Given the description of an element on the screen output the (x, y) to click on. 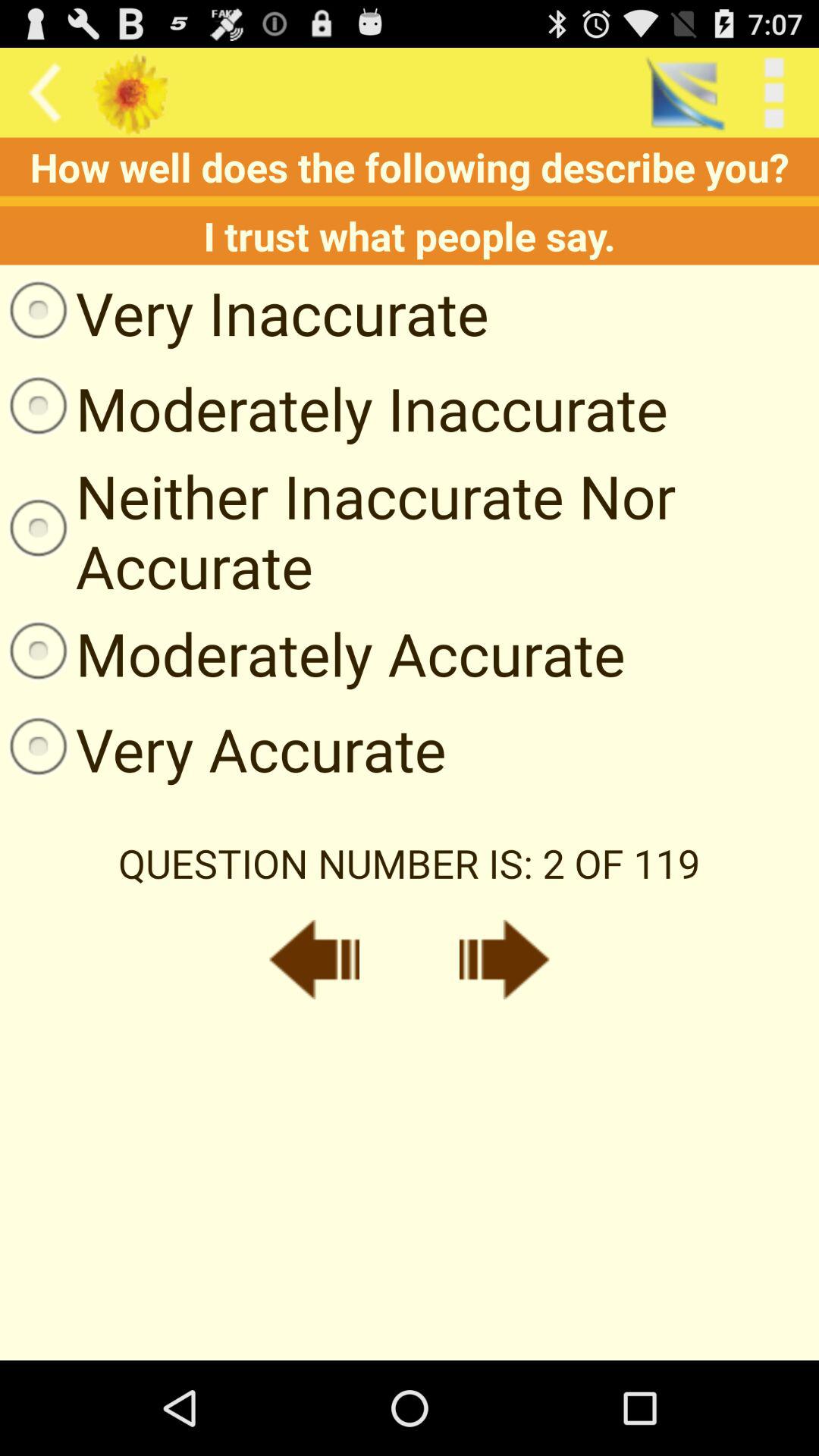
launch the icon above the moderately inaccurate item (244, 312)
